Given the description of an element on the screen output the (x, y) to click on. 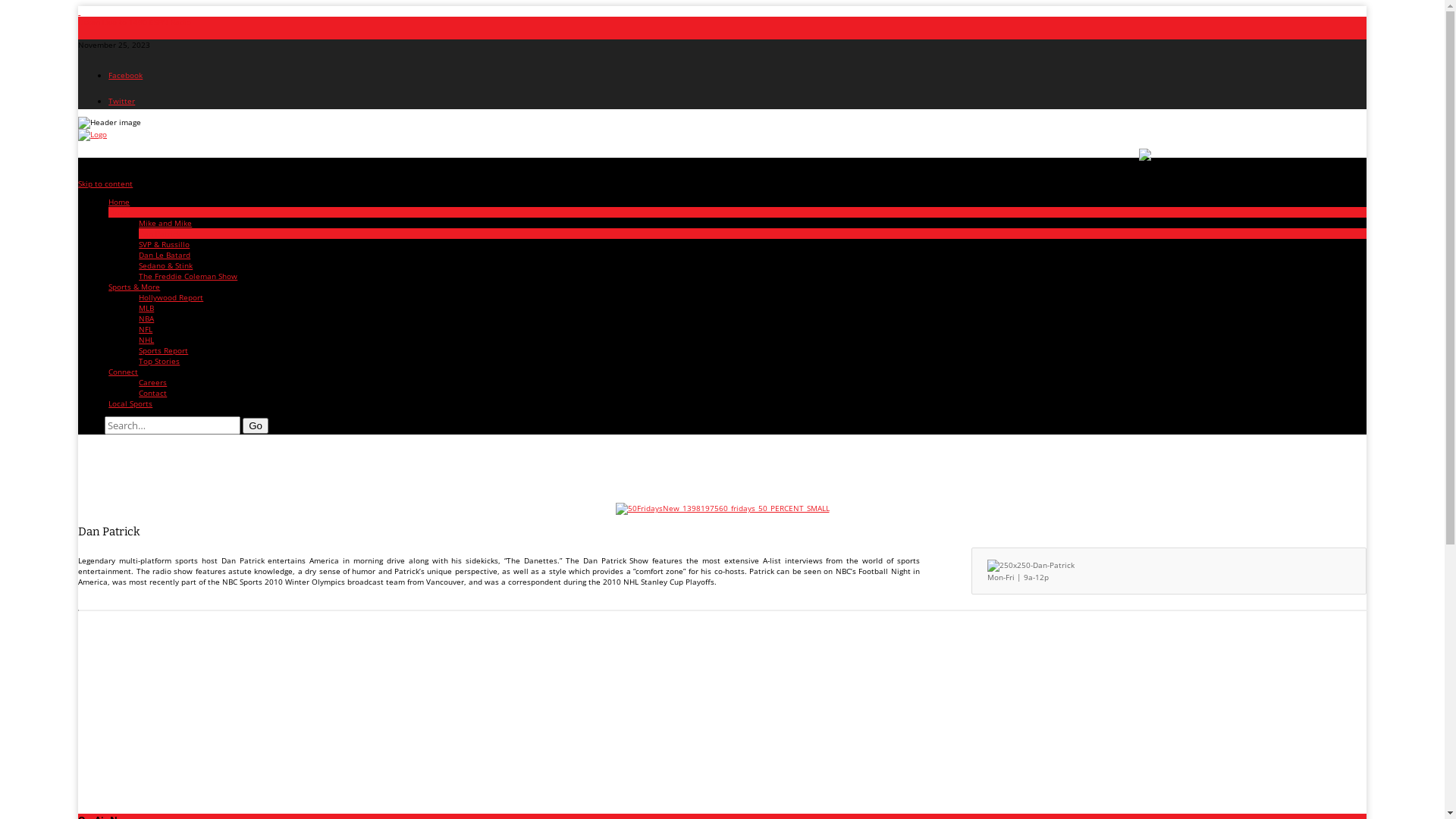
  Element type: text (79, 11)
Connect Element type: text (123, 371)
Hollywood Report Element type: text (170, 296)
Listen Live to 1490 ESPN Radio Element type: text (134, 21)
On-Air Element type: text (119, 212)
Local Sports Element type: text (130, 403)
Facebook Element type: text (125, 74)
Twitter Element type: text (121, 100)
Top Stories Element type: text (158, 360)
MLB Element type: text (145, 307)
Dan Le Batard Element type: text (164, 254)
Skip to content Element type: text (105, 183)
SVP & Russillo Element type: text (163, 243)
The Freddie Coleman Show Element type: text (187, 275)
Dan Patrick Element type: text (159, 233)
Home Element type: text (118, 201)
NFL Element type: text (145, 328)
Sports & More Element type: text (134, 286)
Sports Report Element type: text (163, 350)
Go Element type: text (255, 425)
Careers Element type: text (152, 381)
Contact Element type: text (152, 392)
Sedano & Stink Element type: text (165, 265)
NBA Element type: text (145, 318)
NHL Element type: text (145, 339)
Mike and Mike Element type: text (164, 222)
